Given the description of an element on the screen output the (x, y) to click on. 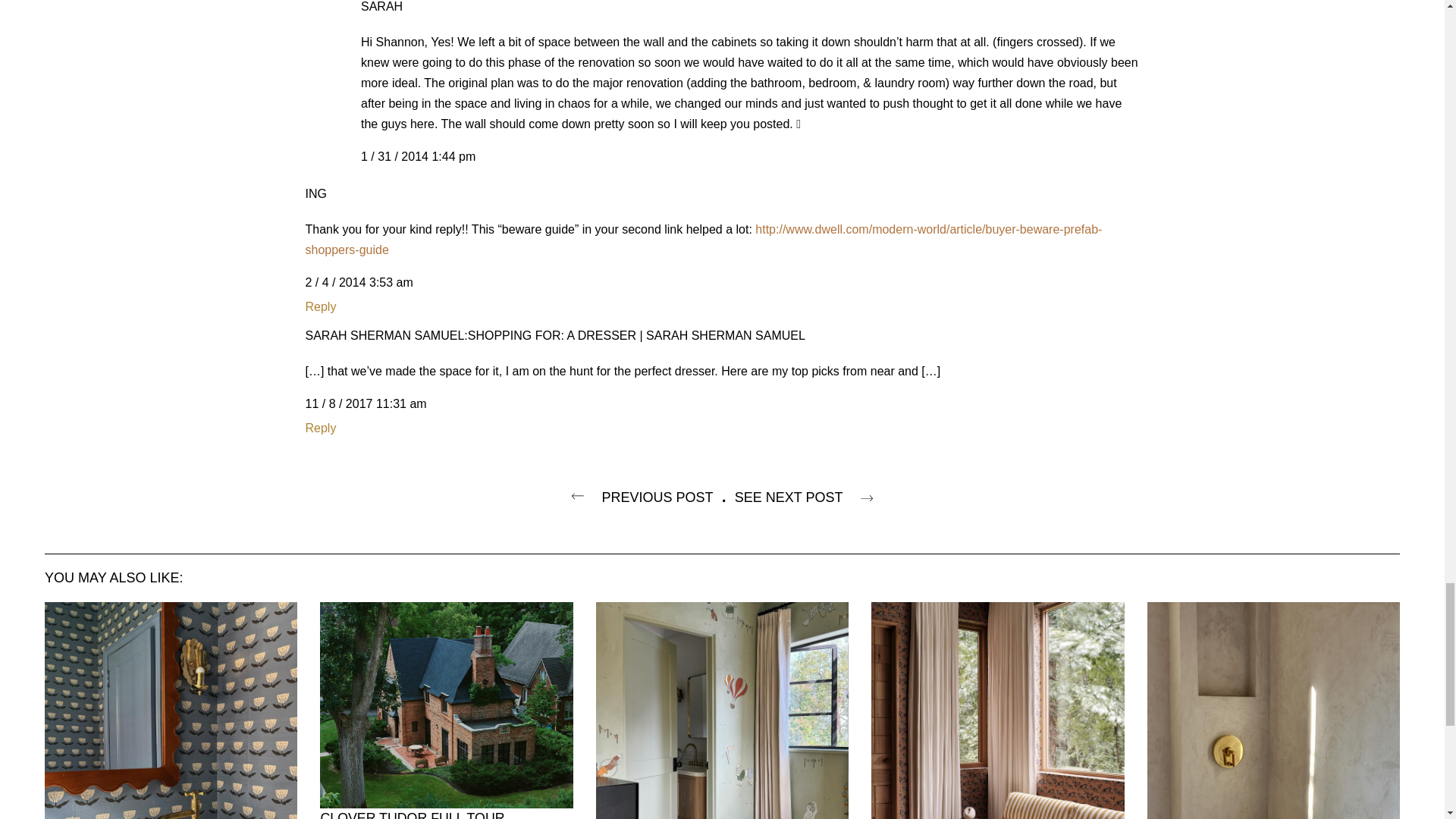
Permanent Link to this comment (365, 403)
Permanent Link to this comment (358, 282)
Permanent Link to this comment (418, 155)
